Given the description of an element on the screen output the (x, y) to click on. 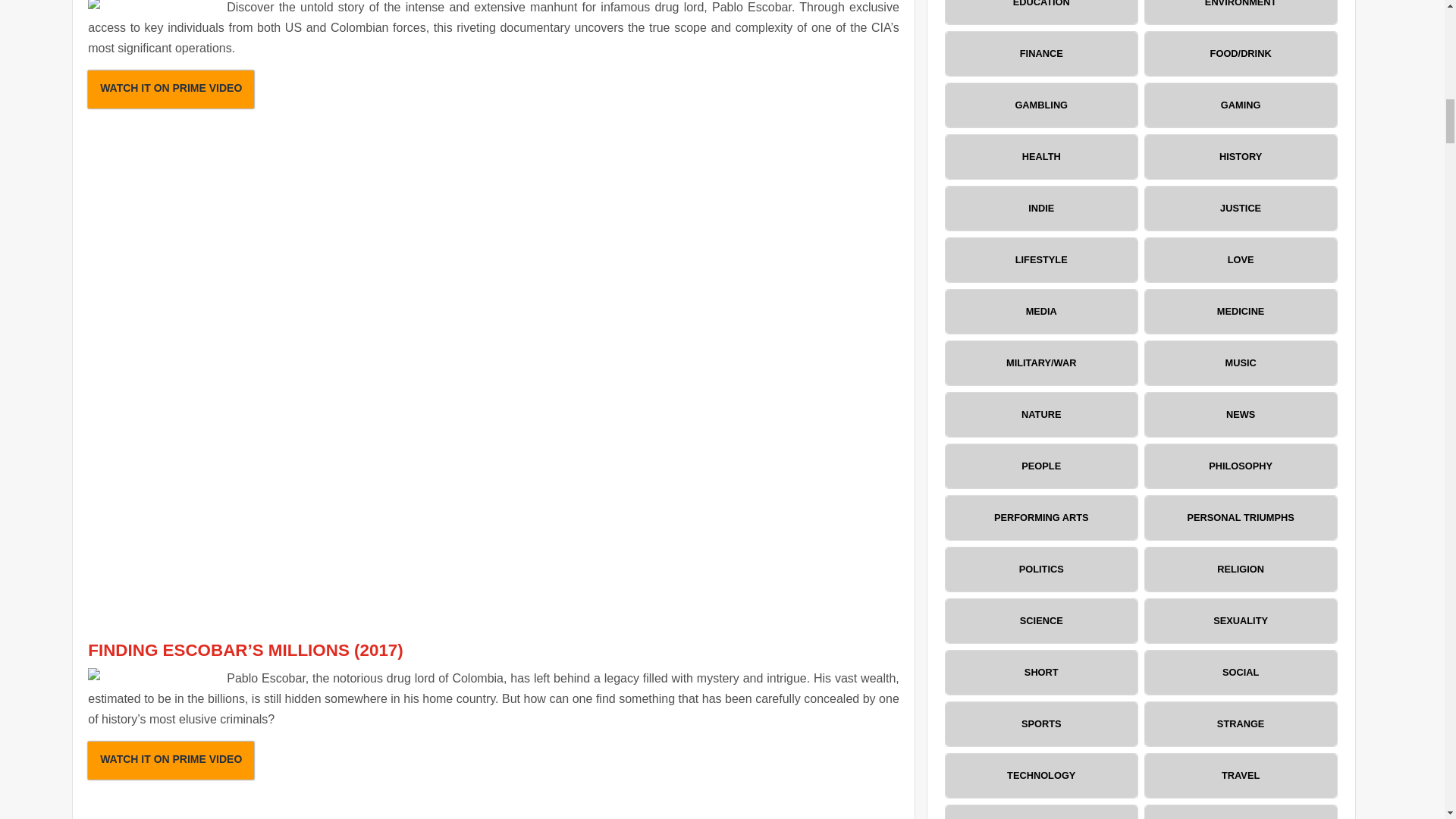
Watch it on Prime (170, 760)
WATCH IT ON PRIME VIDEO (170, 760)
Watch it on Prime (170, 89)
WATCH IT ON PRIME VIDEO (170, 89)
